Given the description of an element on the screen output the (x, y) to click on. 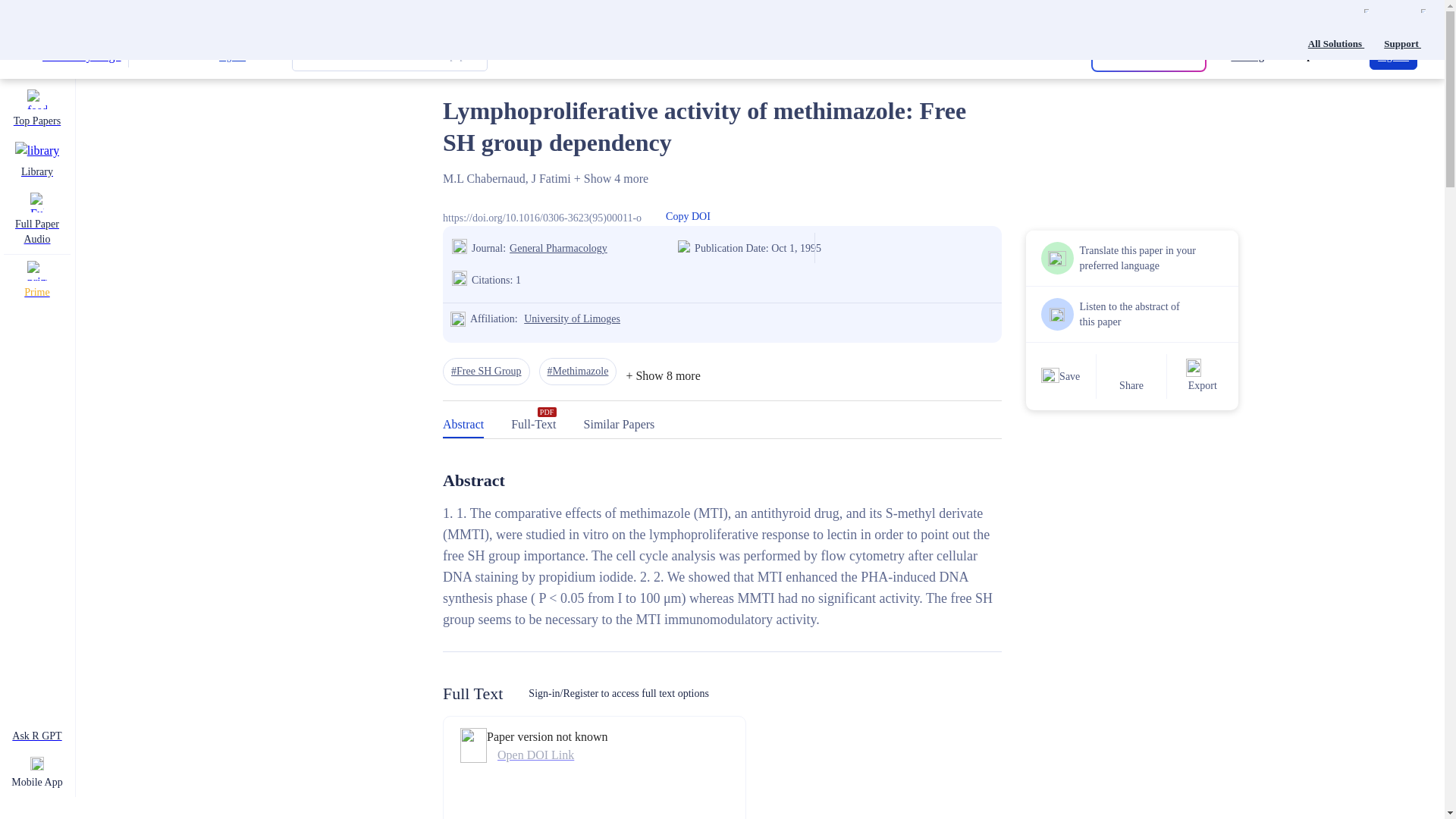
Home (455, 67)
Support (1404, 29)
Free SH Group (485, 370)
General Pharmacology (593, 248)
Open DOI Link (547, 755)
Prime (36, 280)
Mobile App (36, 773)
Library (36, 160)
Top Papers (36, 109)
Sign In (1393, 55)
